Given the description of an element on the screen output the (x, y) to click on. 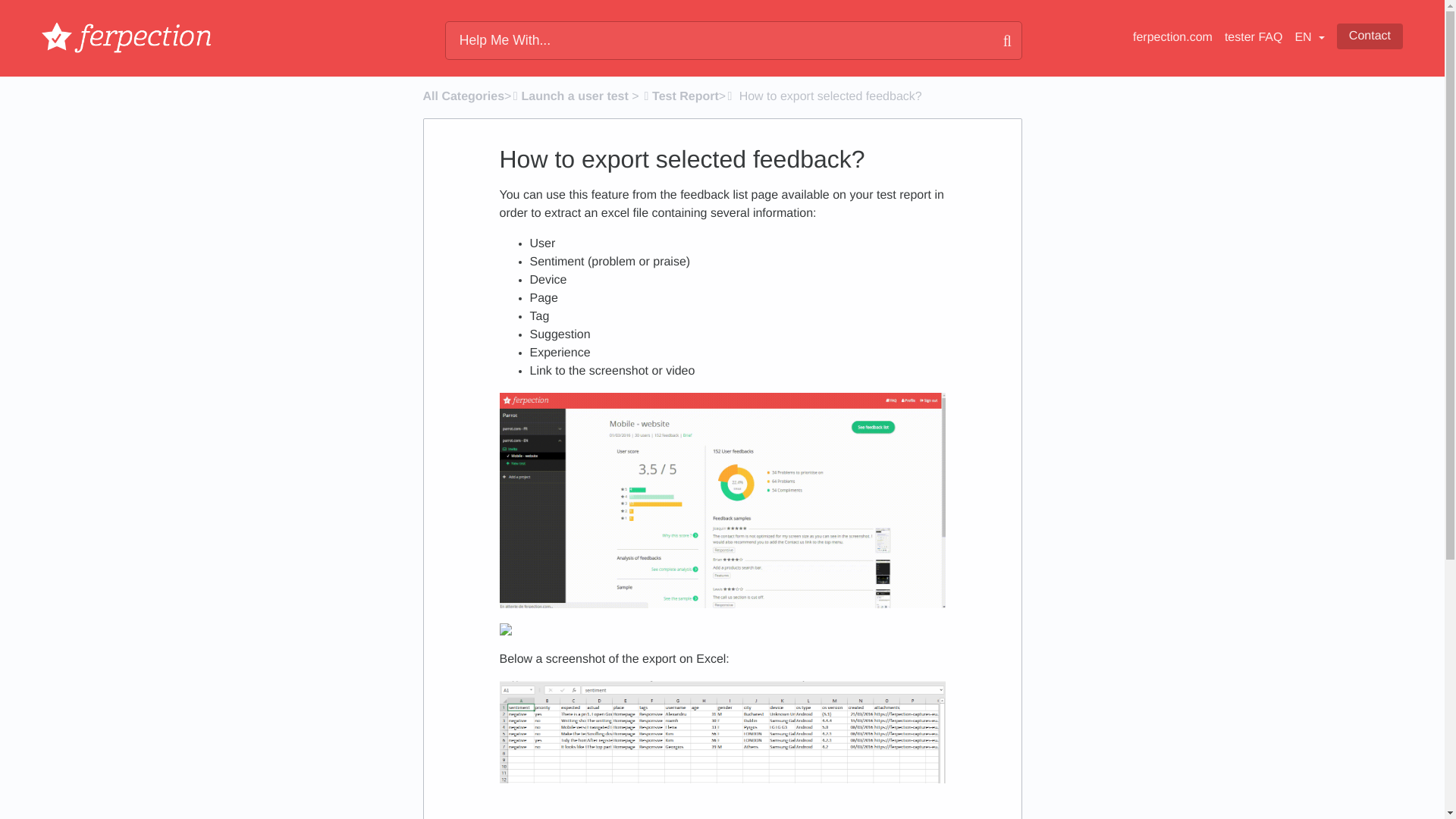
All Categories (464, 96)
Test Report (680, 96)
Contact (1369, 36)
Launch a user test (569, 96)
EN (1308, 37)
ferpection.com (1172, 37)
tester FAQ (1253, 37)
